Given the description of an element on the screen output the (x, y) to click on. 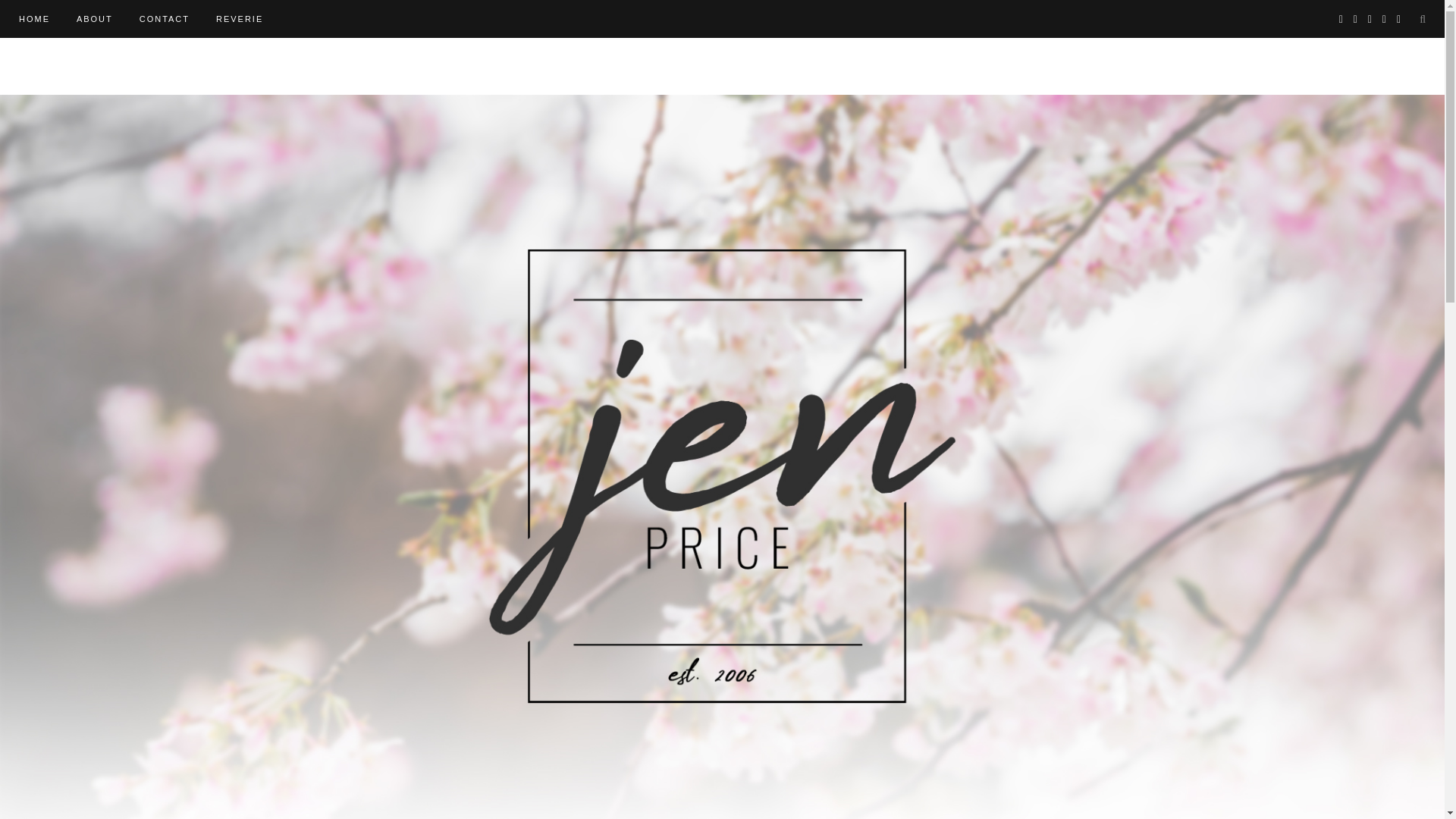
REVERIE (239, 18)
ABOUT (95, 18)
CONTACT (164, 18)
